Given the description of an element on the screen output the (x, y) to click on. 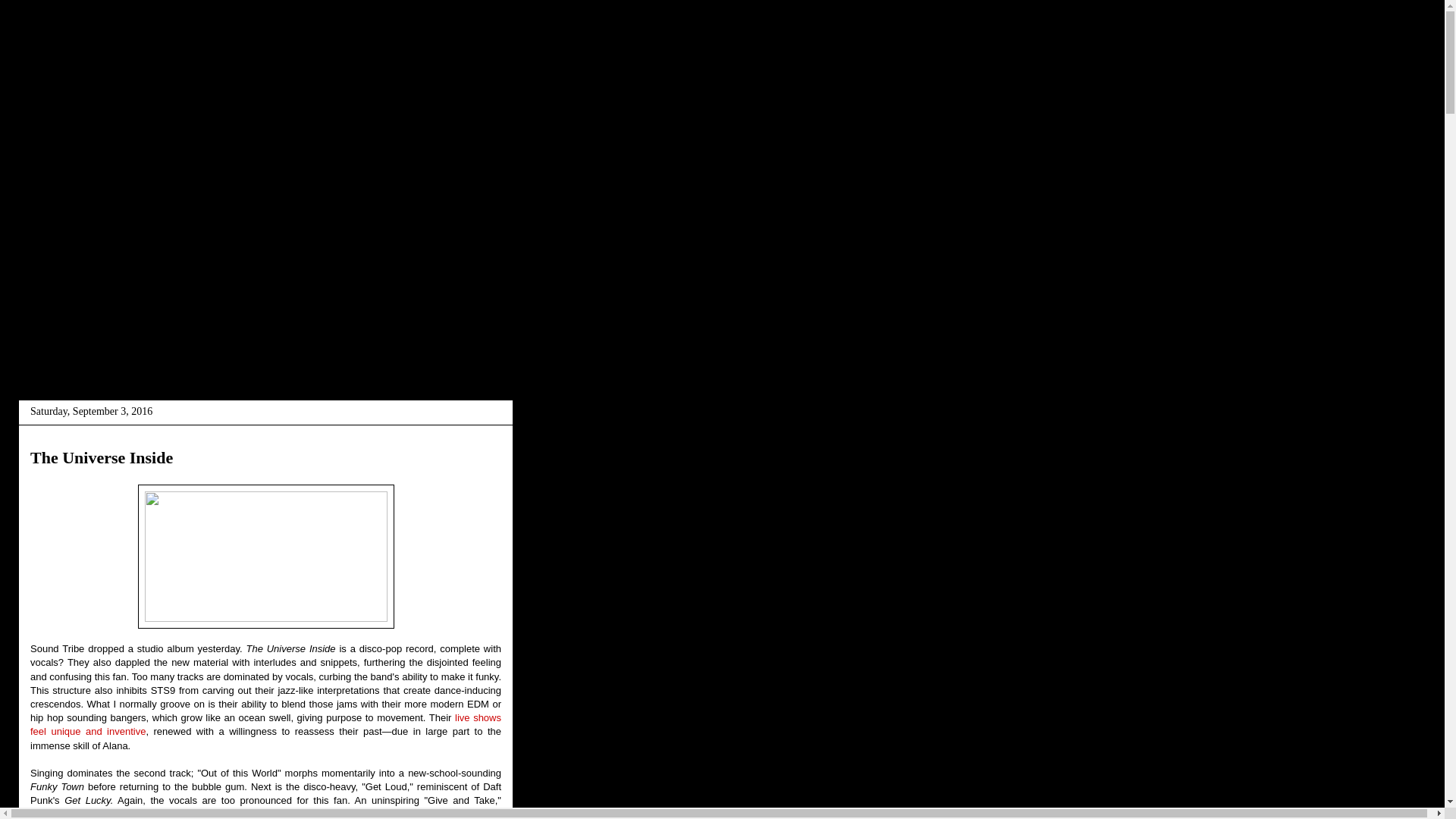
live shows feel unique and inventive (265, 724)
